Given the description of an element on the screen output the (x, y) to click on. 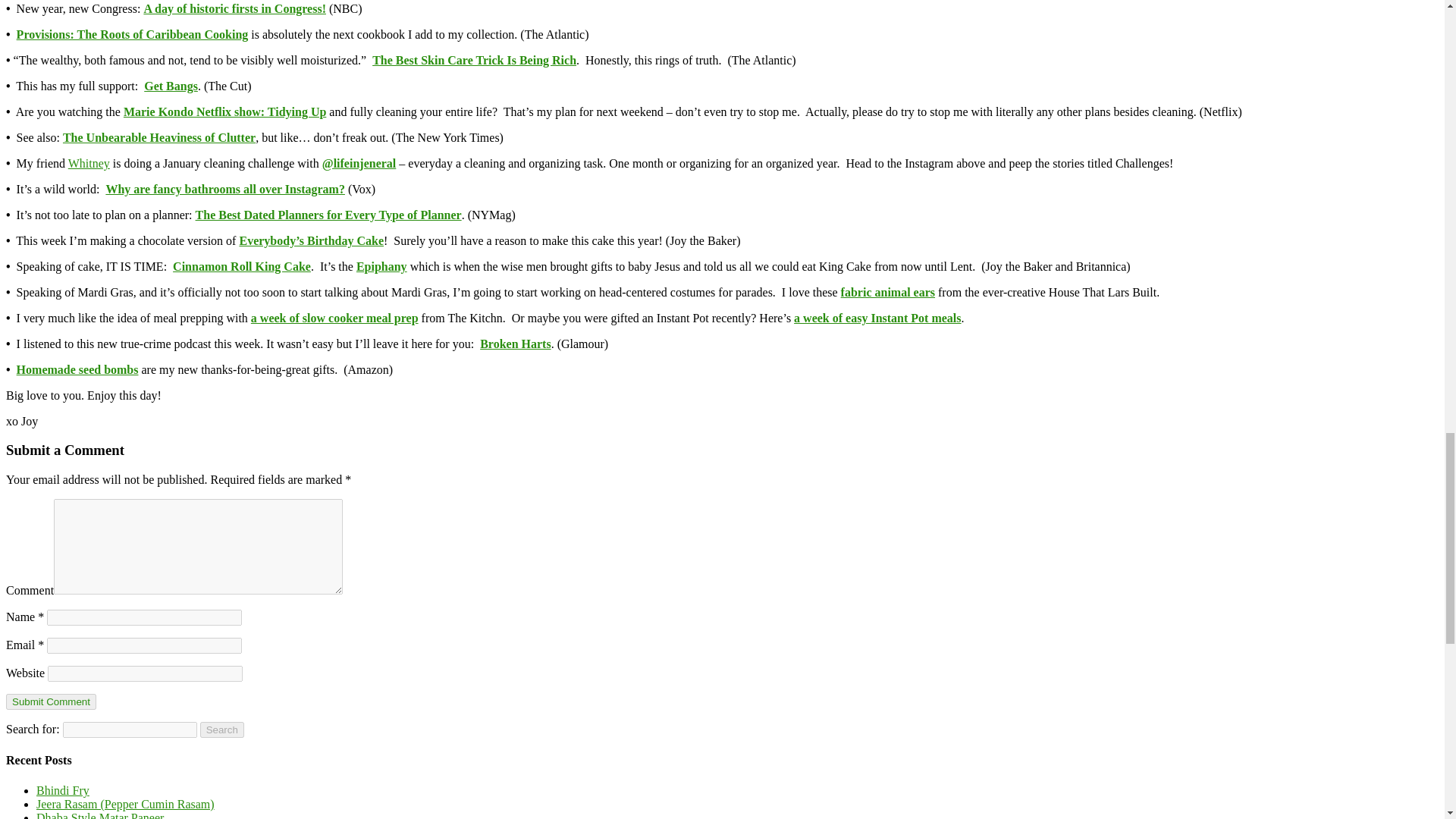
Search (222, 729)
fabric animal ears (887, 291)
Provisions: The Roots of Caribbean Cooking (132, 33)
The Unbearable Heaviness of Clutter (159, 137)
Marie Kondo Netflix show: Tidying Up (224, 111)
Epiphany (381, 266)
a week of slow cooker meal prep (334, 318)
Get Bangs (171, 85)
Search (222, 729)
The Best Dated Planners for Every Type of Planner (328, 214)
